Given the description of an element on the screen output the (x, y) to click on. 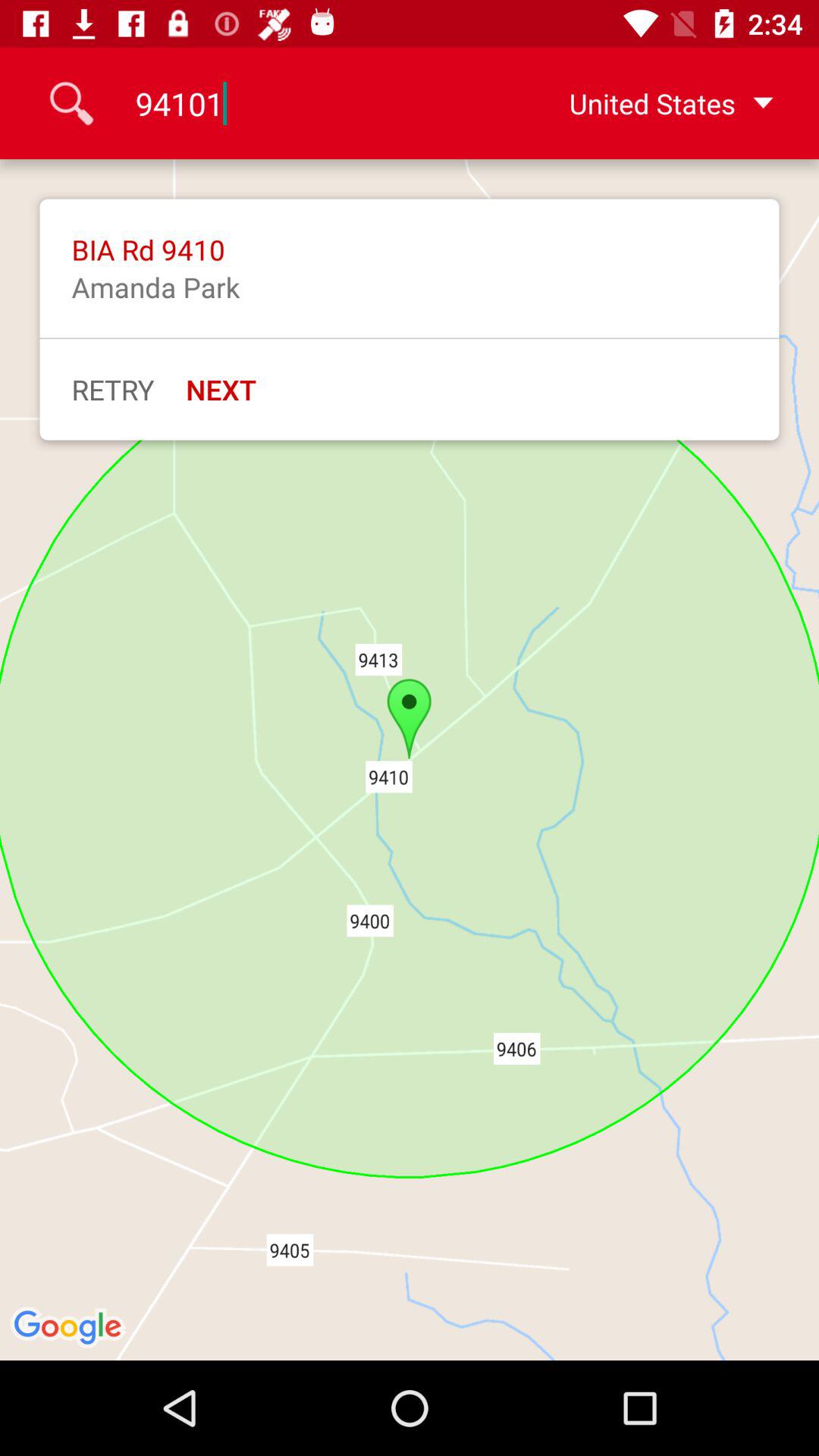
click united states icon (647, 103)
